Given the description of an element on the screen output the (x, y) to click on. 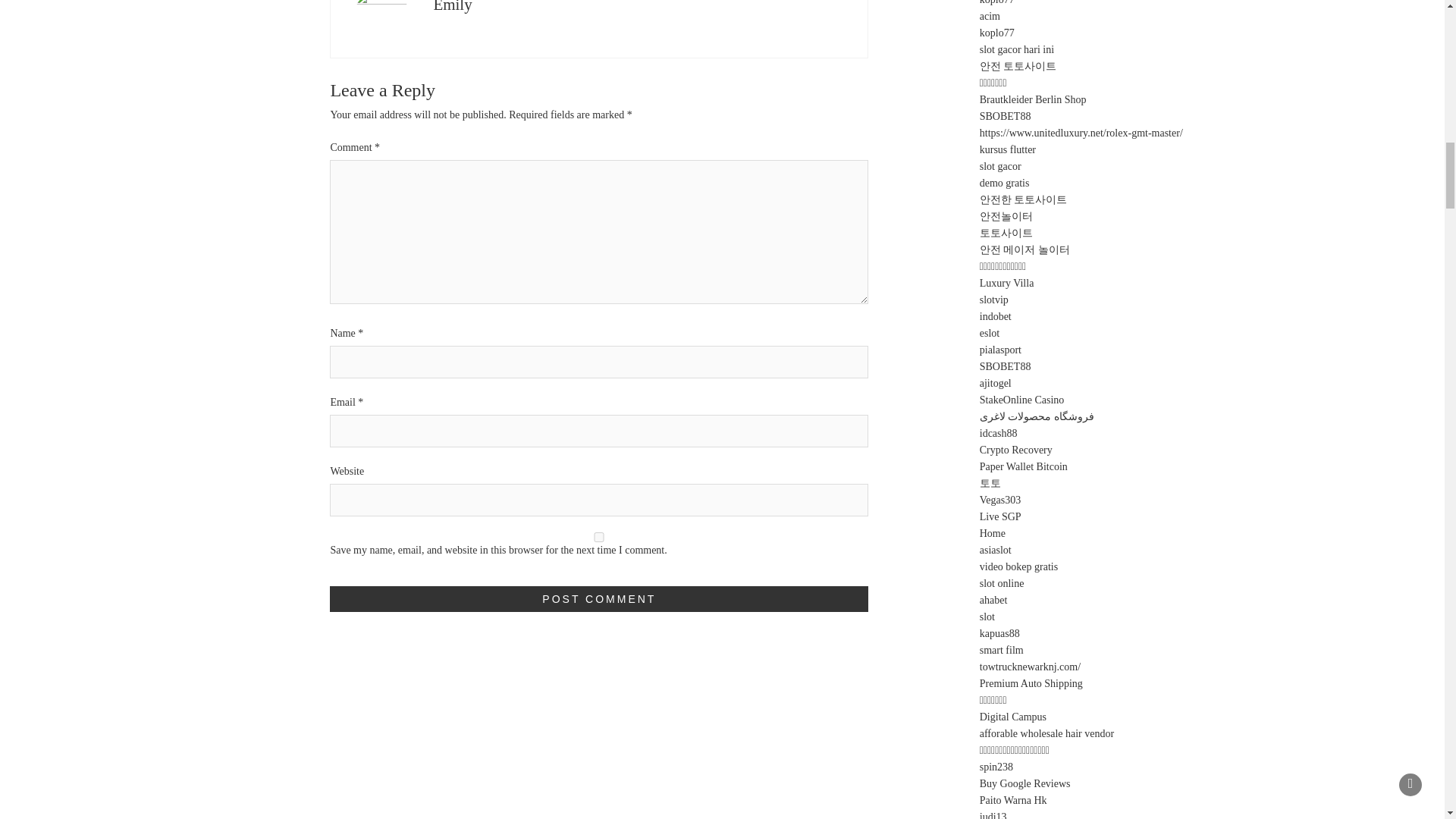
Post Comment (598, 598)
Post Comment (598, 598)
yes (598, 537)
Emily (451, 6)
